Given the description of an element on the screen output the (x, y) to click on. 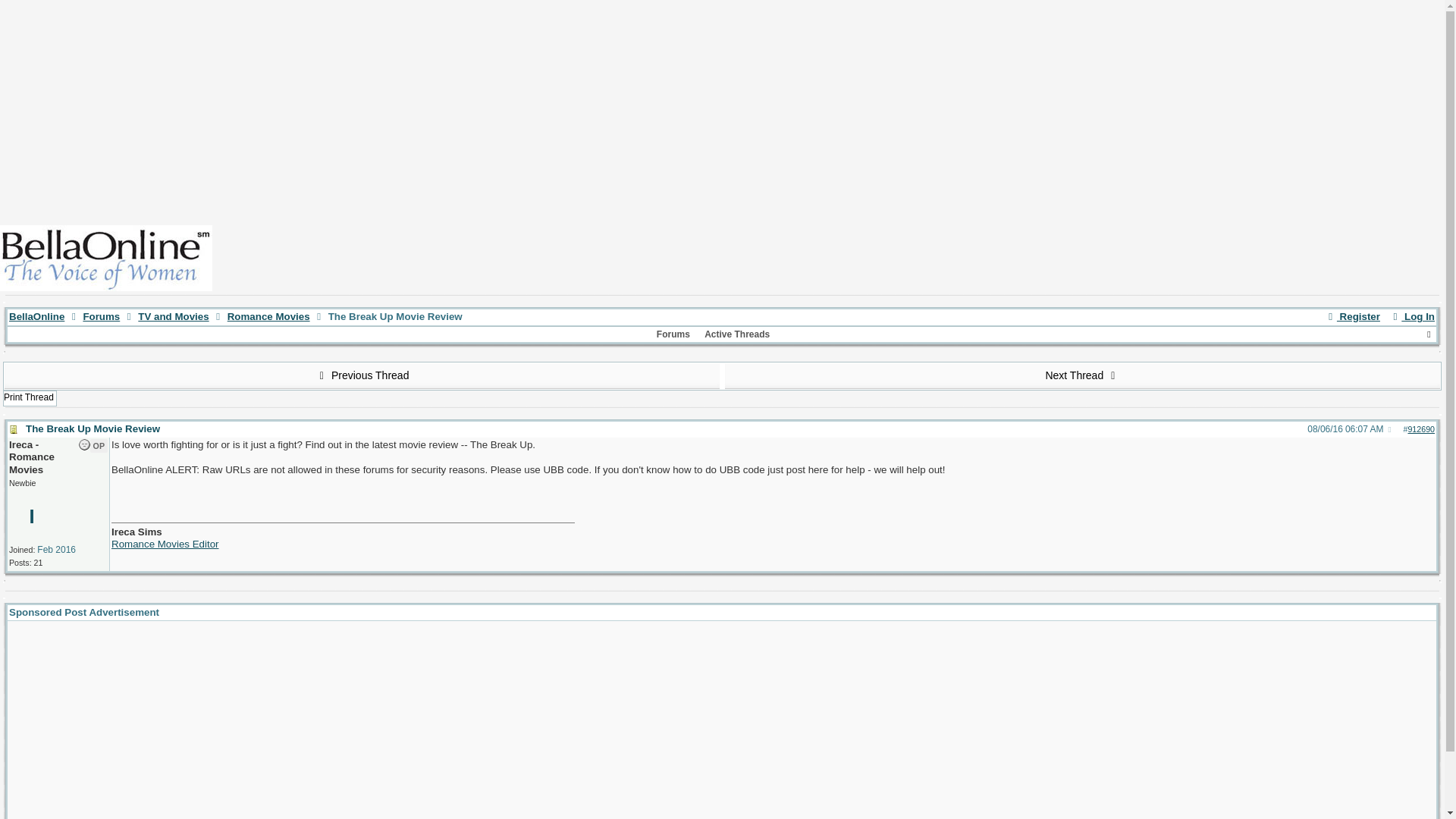
Forums (673, 334)
Offline (84, 444)
912690 (1420, 429)
Romance Movies Editor (165, 543)
I (31, 515)
Romance Movies (268, 316)
Share Post (1390, 429)
